Given the description of an element on the screen output the (x, y) to click on. 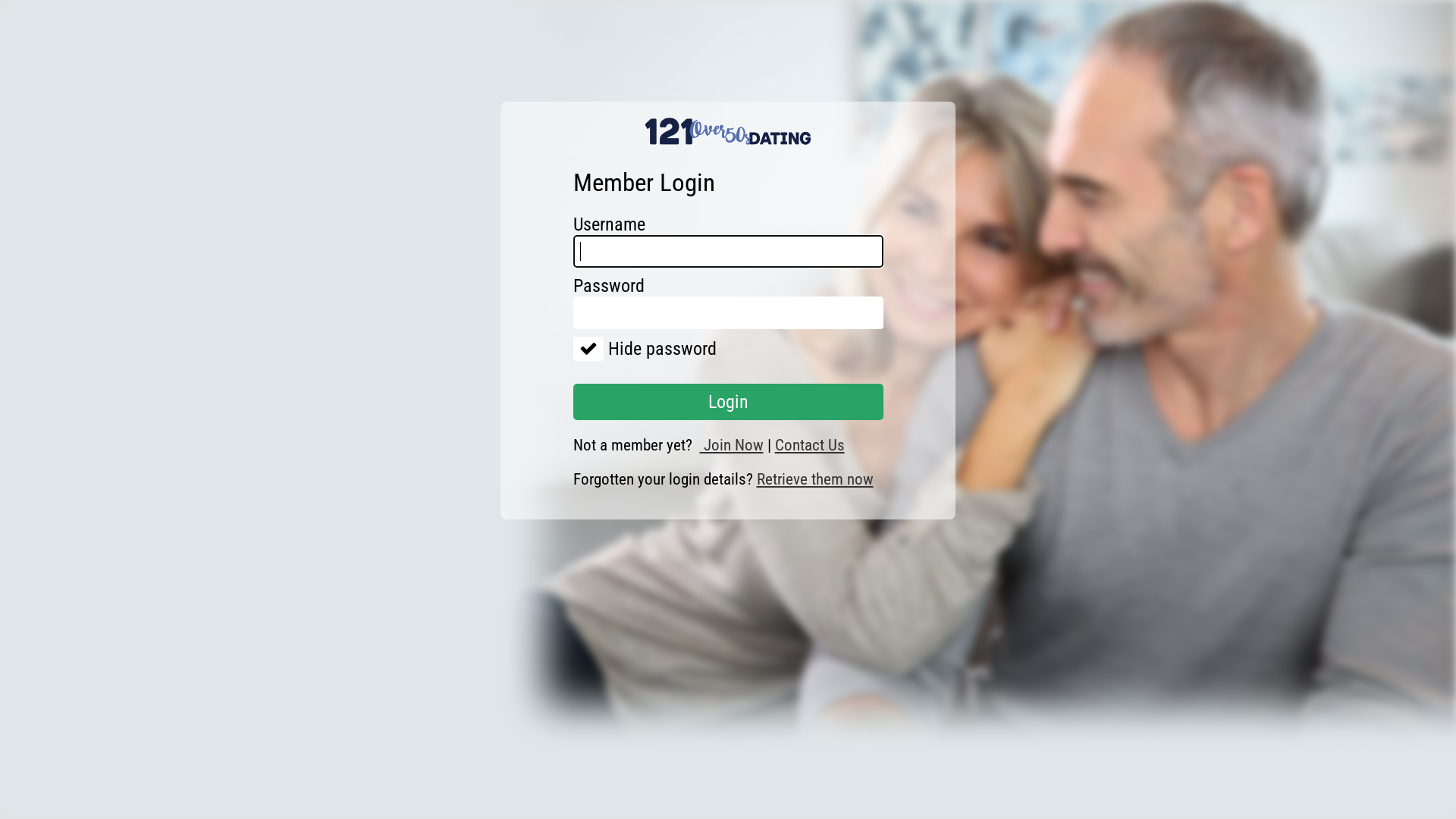
Contact Us Element type: text (809, 445)
Join Now Element type: text (730, 445)
Retrieve them now Element type: text (814, 479)
Login Element type: text (728, 401)
